Given the description of an element on the screen output the (x, y) to click on. 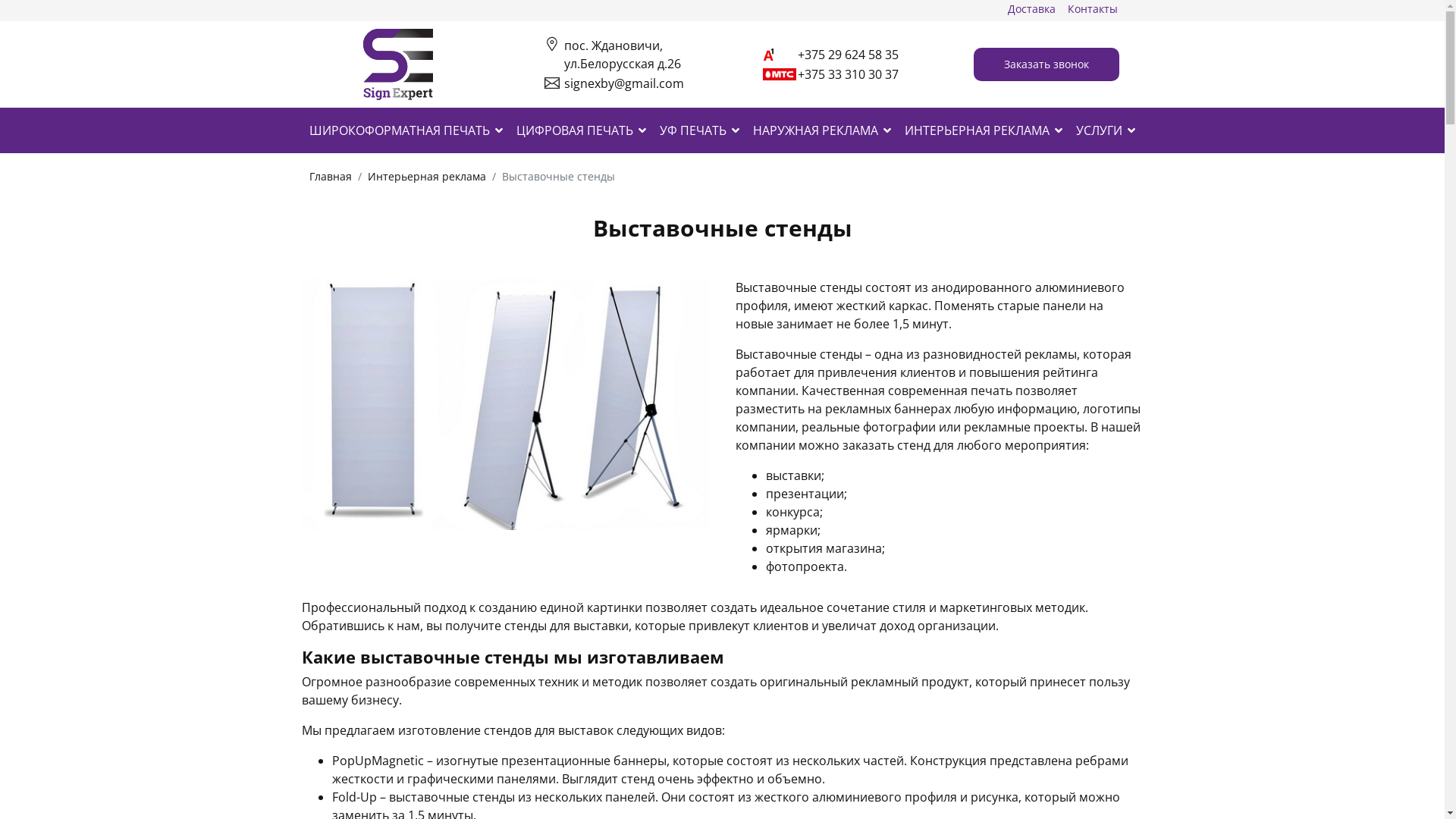
signexby@gmail.com Element type: text (624, 83)
+375  Element type: text (812, 73)
+375 29  Element type: text (820, 54)
